Given the description of an element on the screen output the (x, y) to click on. 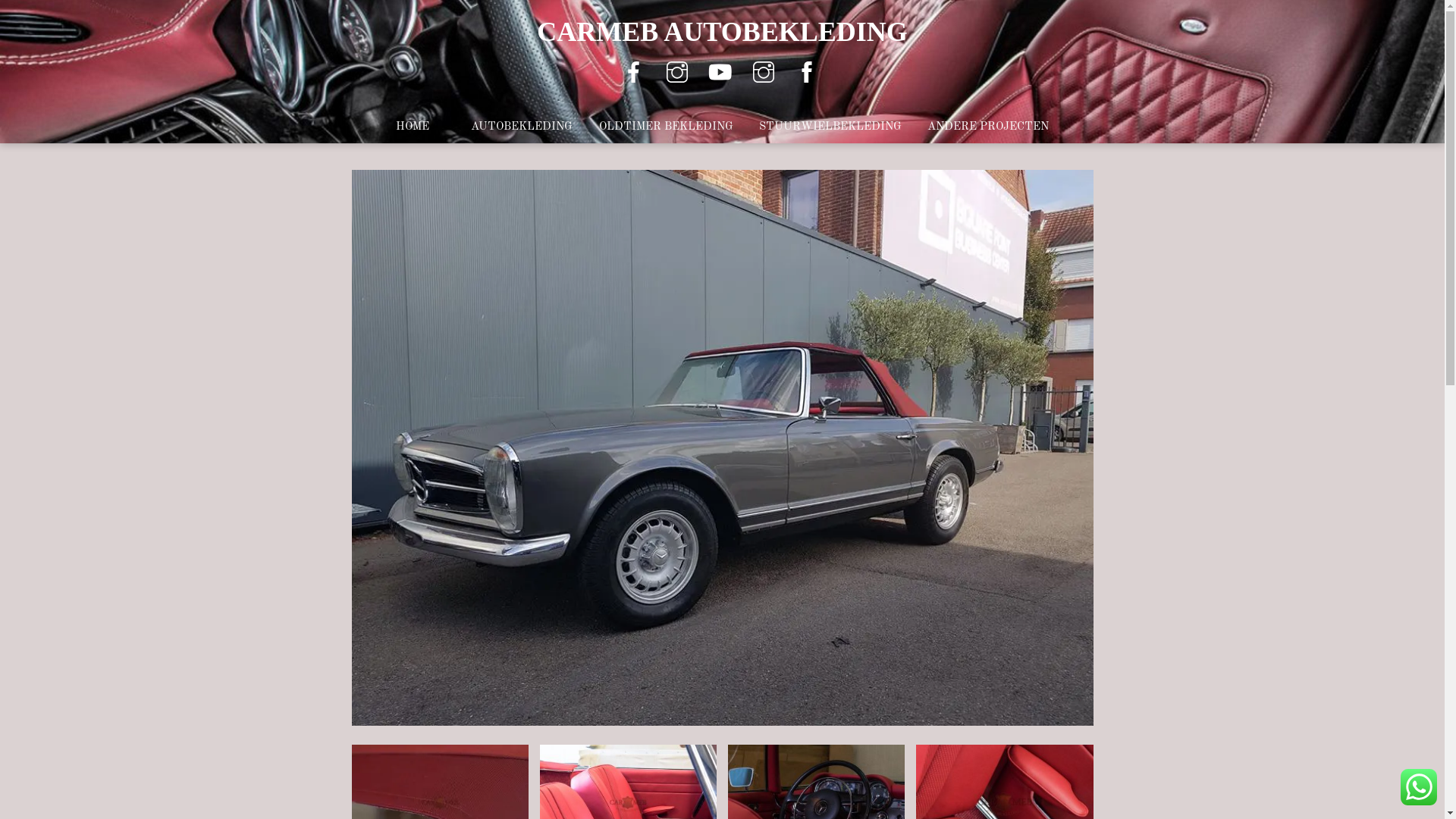
HOME Element type: text (420, 127)
23000157_536292160041199_1741858701163356494_o Element type: hover (722, 715)
AUTOBEKLEDING Element type: text (521, 127)
STUURWIELBEKLEDING Element type: text (830, 127)
ANDERE PROJECTEN Element type: text (988, 127)
OLDTIMER BEKLEDING Element type: text (664, 127)
CARMEB AUTOBEKLEDING Element type: text (721, 31)
